Given the description of an element on the screen output the (x, y) to click on. 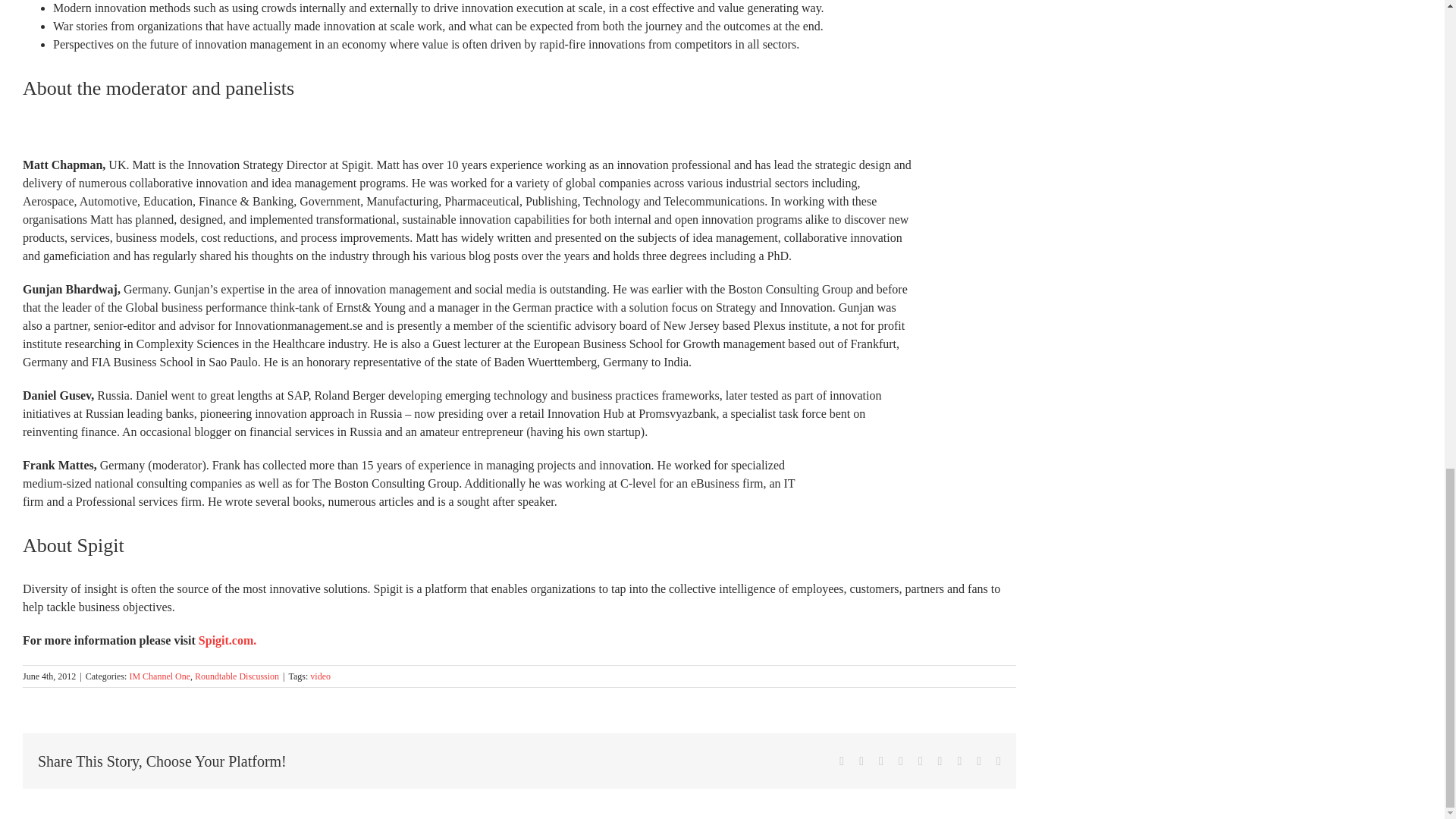
video (320, 675)
Roundtable Discussion (237, 675)
IM Channel One (159, 675)
Spigit.com. (227, 640)
